Given the description of an element on the screen output the (x, y) to click on. 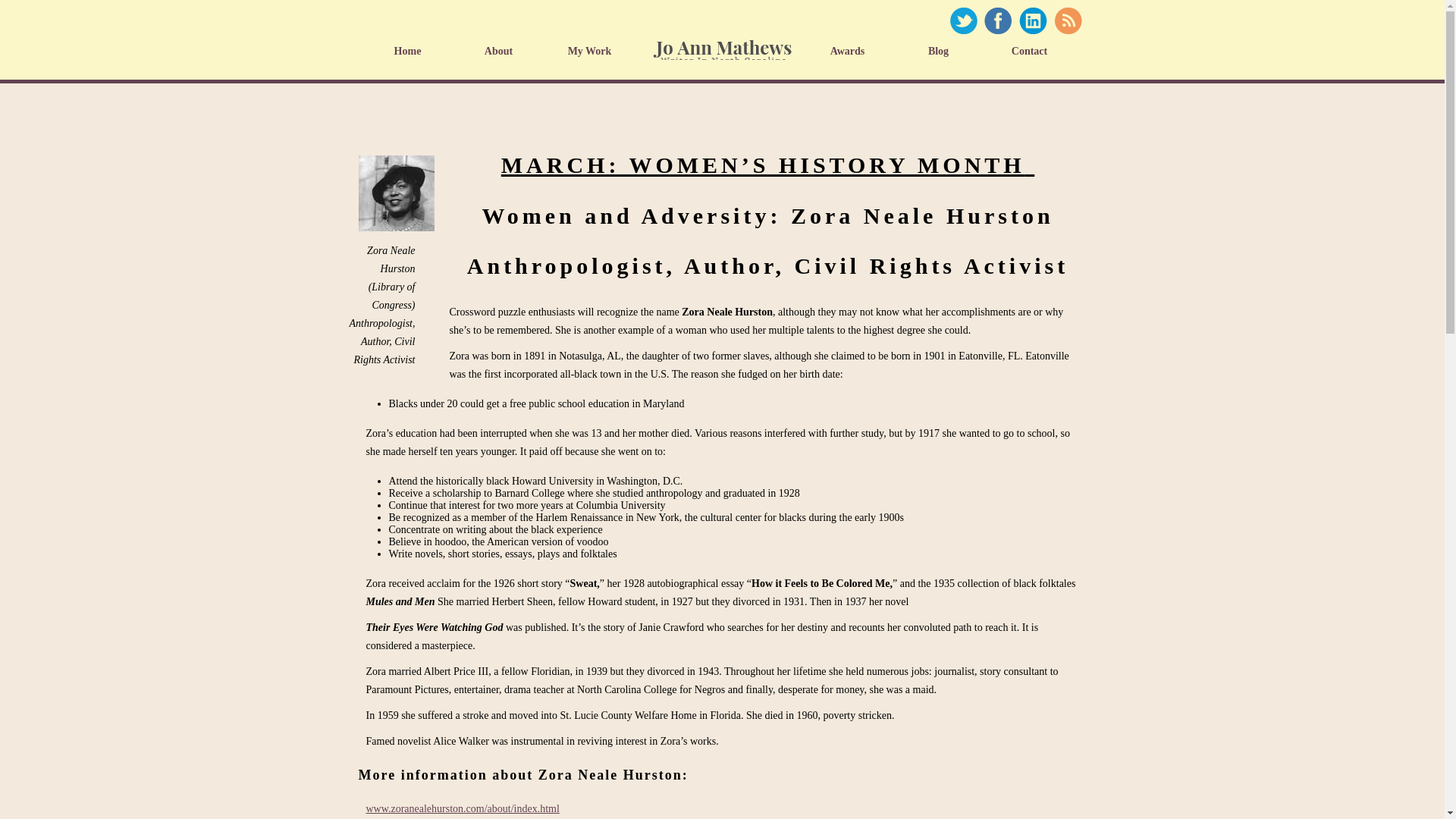
Home (411, 50)
Home (722, 50)
My Work (593, 50)
Blog (941, 50)
Linked In (1031, 20)
About (502, 50)
Awards (850, 50)
RSS (1066, 20)
Anthropologist, Author, Civil Rights Activist (395, 192)
Facebook (996, 20)
